Given the description of an element on the screen output the (x, y) to click on. 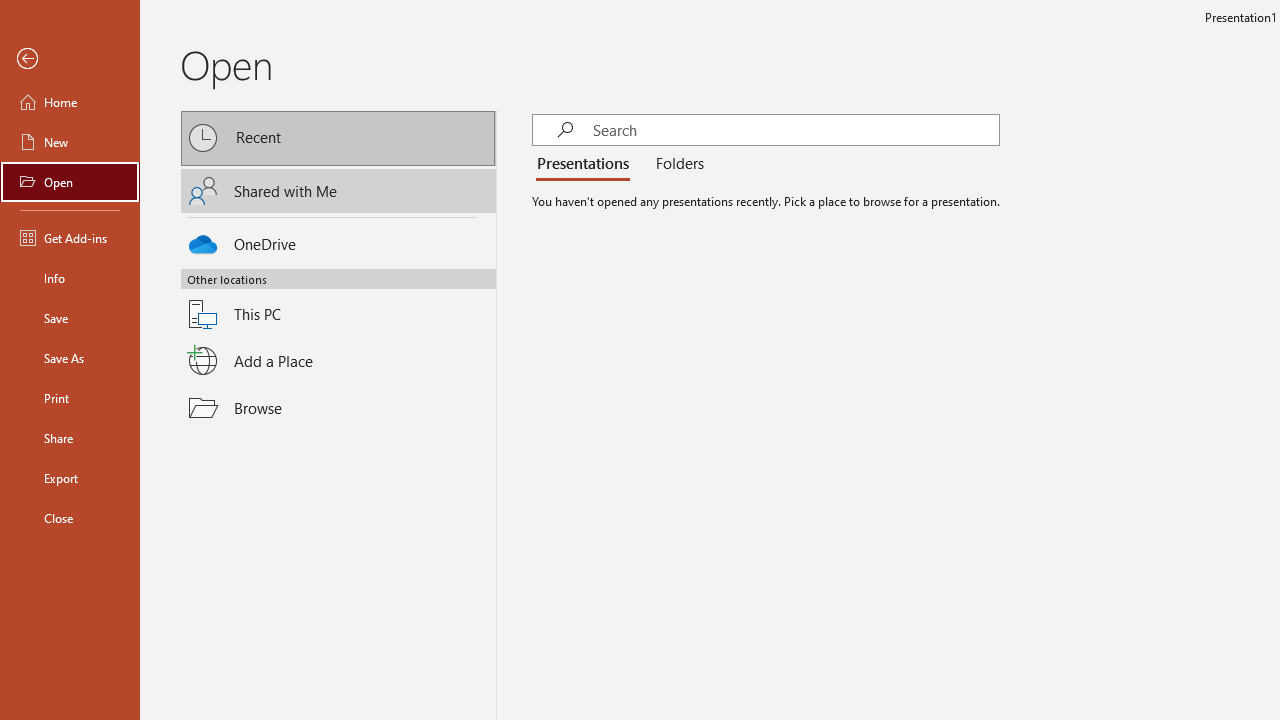
Info (69, 277)
Print (69, 398)
OneDrive (338, 240)
Browse (338, 407)
Add a Place (338, 361)
Save As (69, 357)
